Given the description of an element on the screen output the (x, y) to click on. 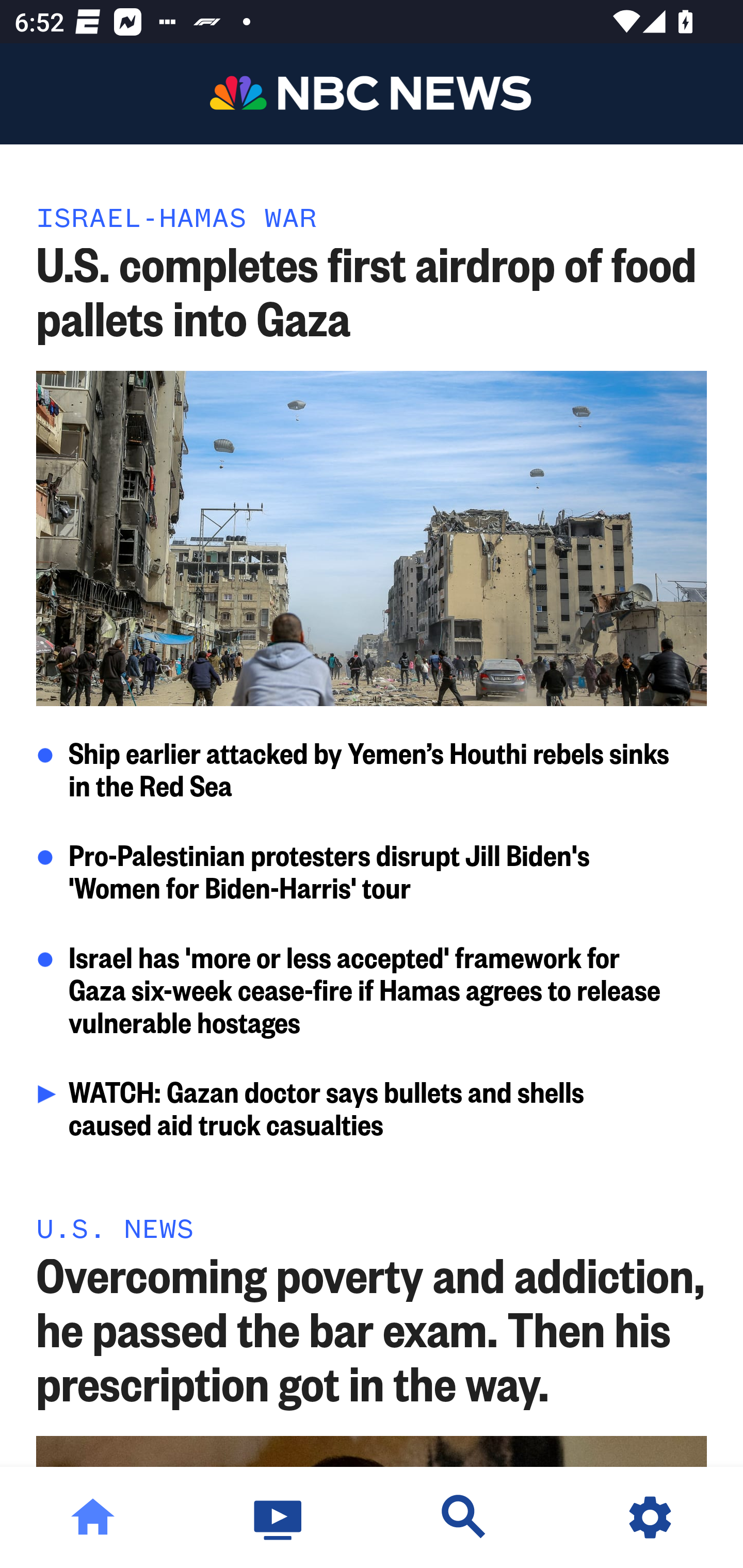
Watch (278, 1517)
Discover (464, 1517)
Settings (650, 1517)
